Given the description of an element on the screen output the (x, y) to click on. 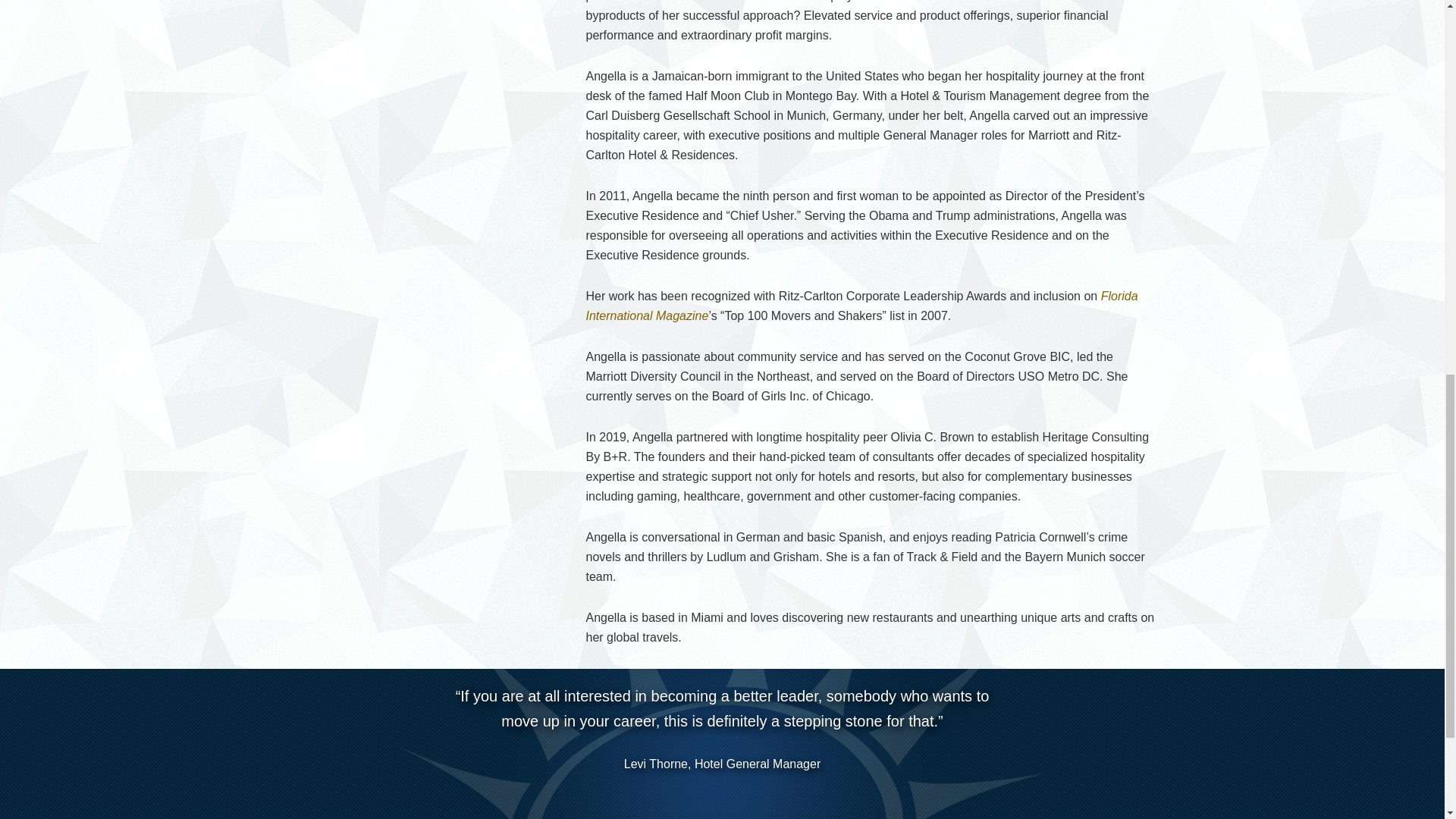
6 (744, 795)
2 (681, 795)
1 (663, 795)
7 (759, 795)
8 (776, 795)
4 (712, 795)
5 (727, 795)
3 (695, 795)
